Given the description of an element on the screen output the (x, y) to click on. 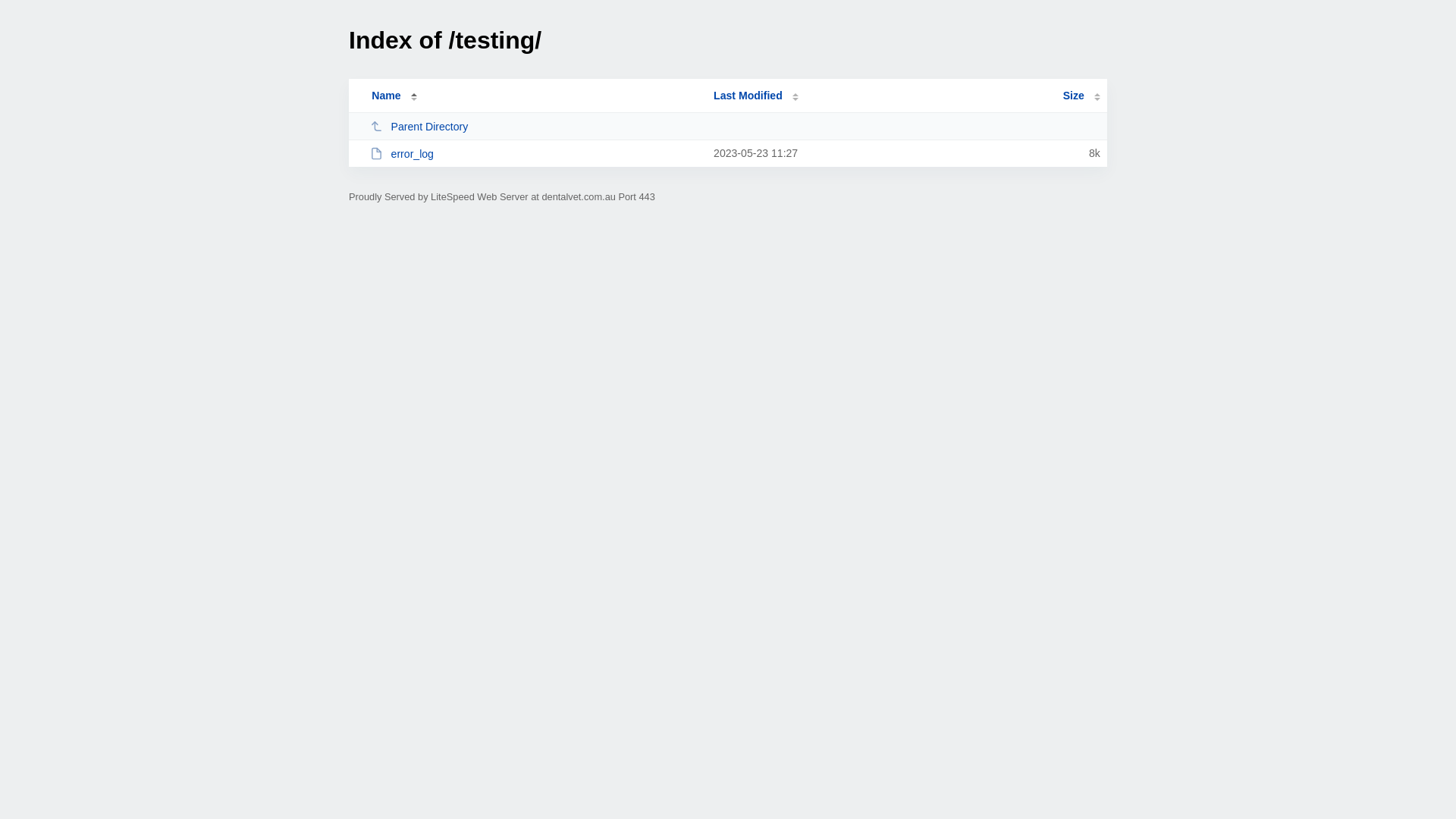
Last Modified Element type: text (755, 95)
error_log Element type: text (534, 153)
Name Element type: text (385, 95)
Size Element type: text (1081, 95)
Parent Directory Element type: text (534, 125)
